Given the description of an element on the screen output the (x, y) to click on. 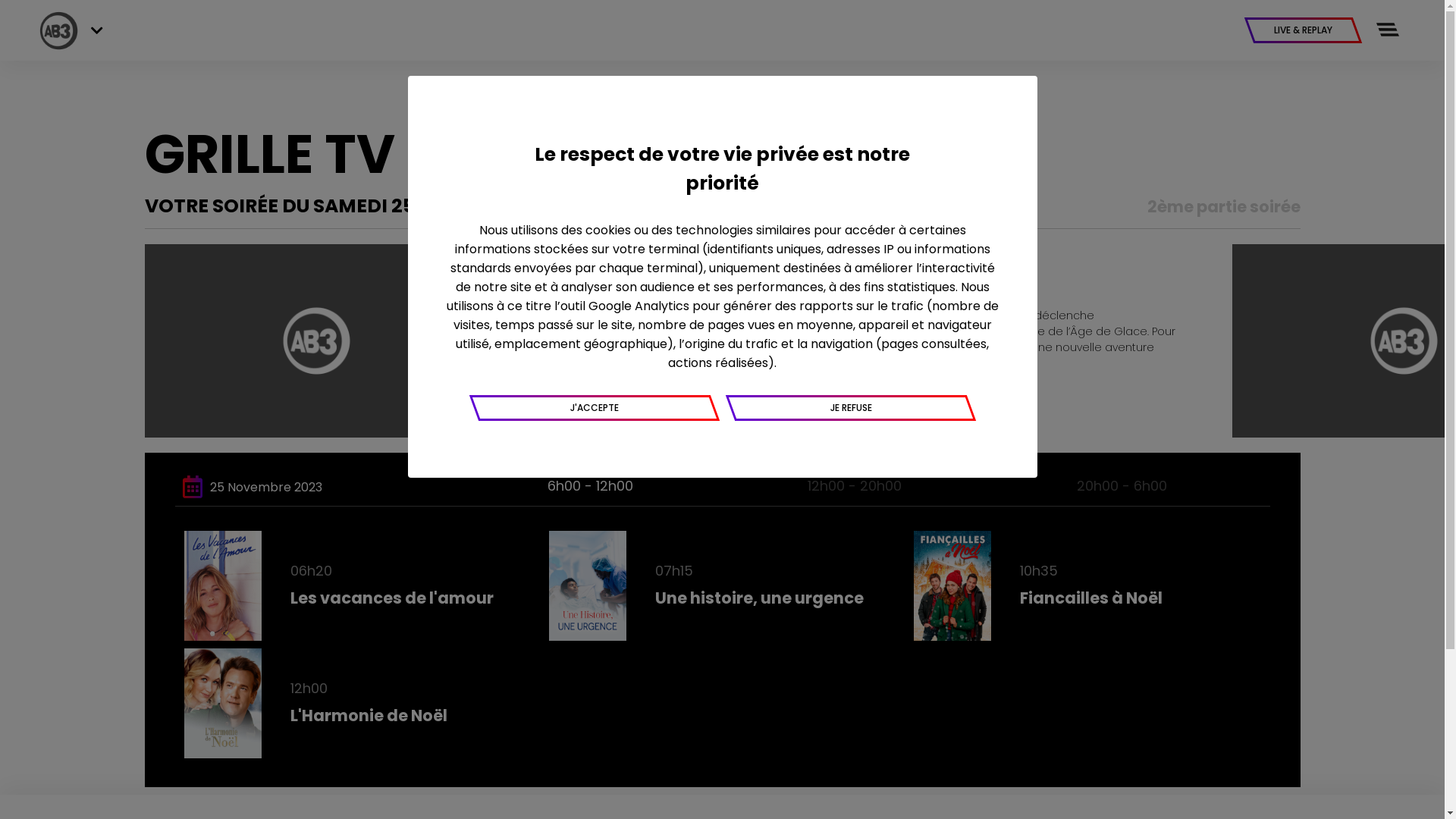
logo Element type: hover (58, 29)
LIVE & REPLAY Element type: text (1302, 30)
